Given the description of an element on the screen output the (x, y) to click on. 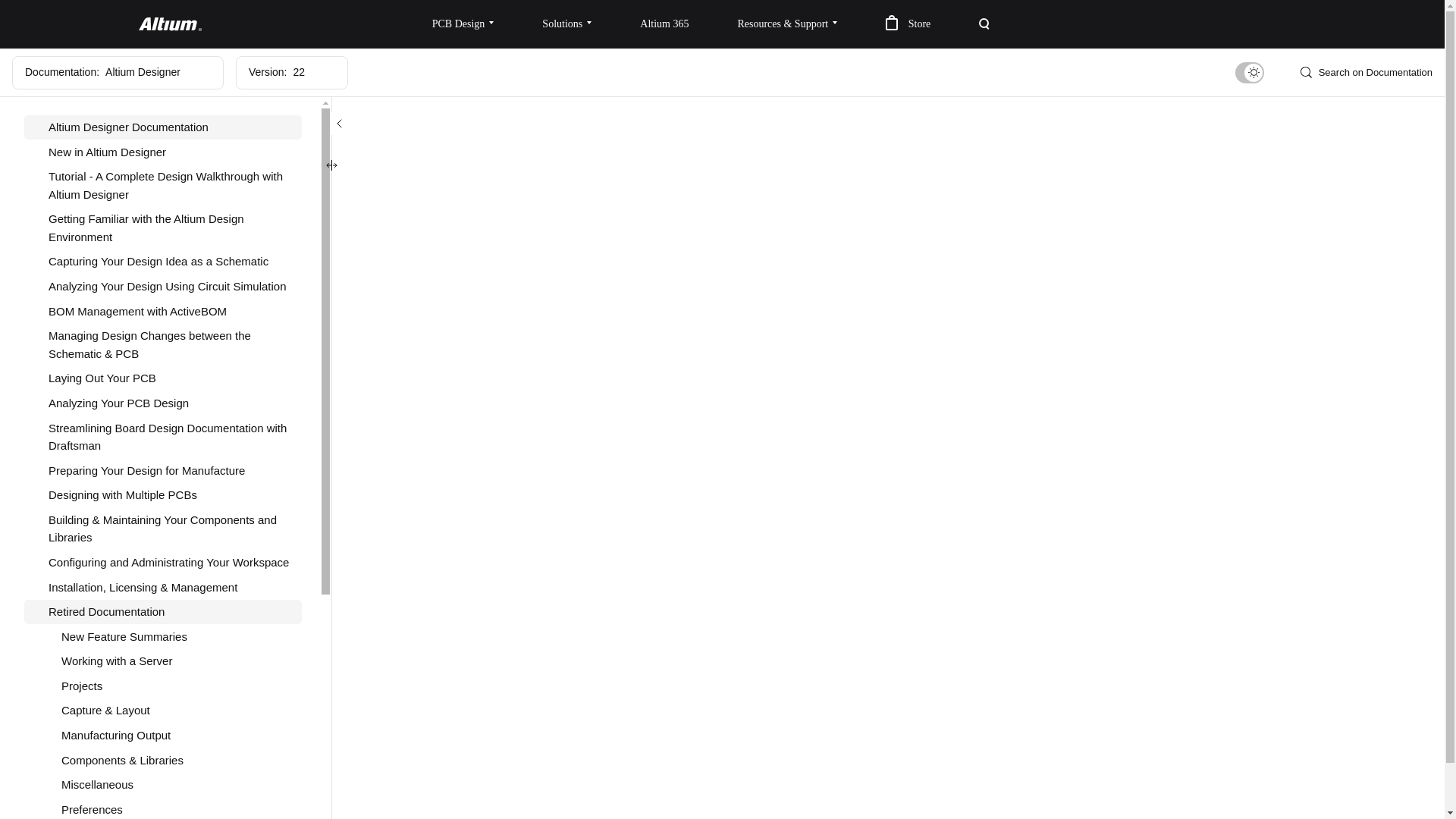
Store (908, 24)
Altium 365 (664, 24)
PCB Design (462, 24)
Search Open (984, 24)
Solutions (566, 24)
